Given the description of an element on the screen output the (x, y) to click on. 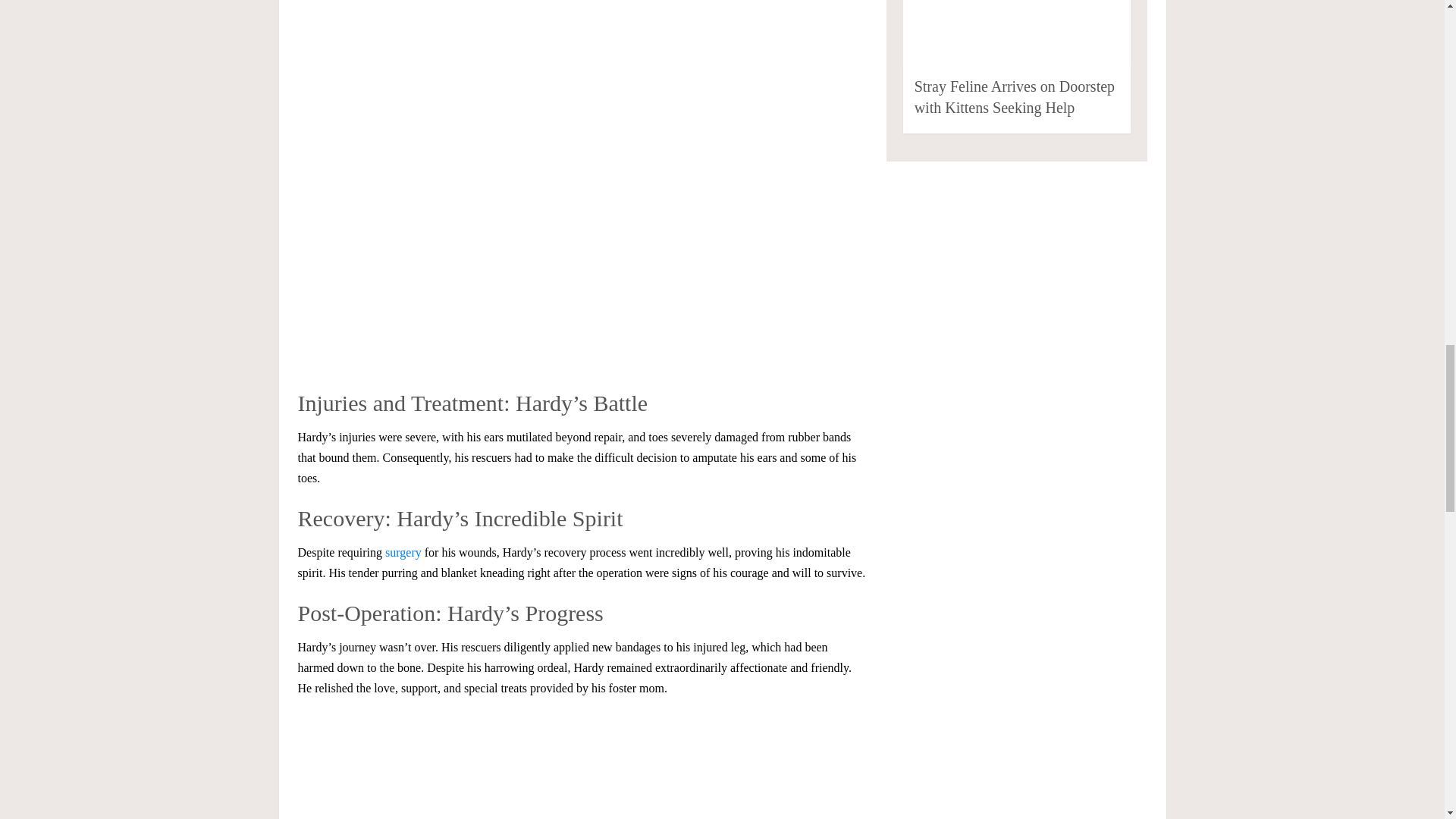
surgery (403, 552)
